Given the description of an element on the screen output the (x, y) to click on. 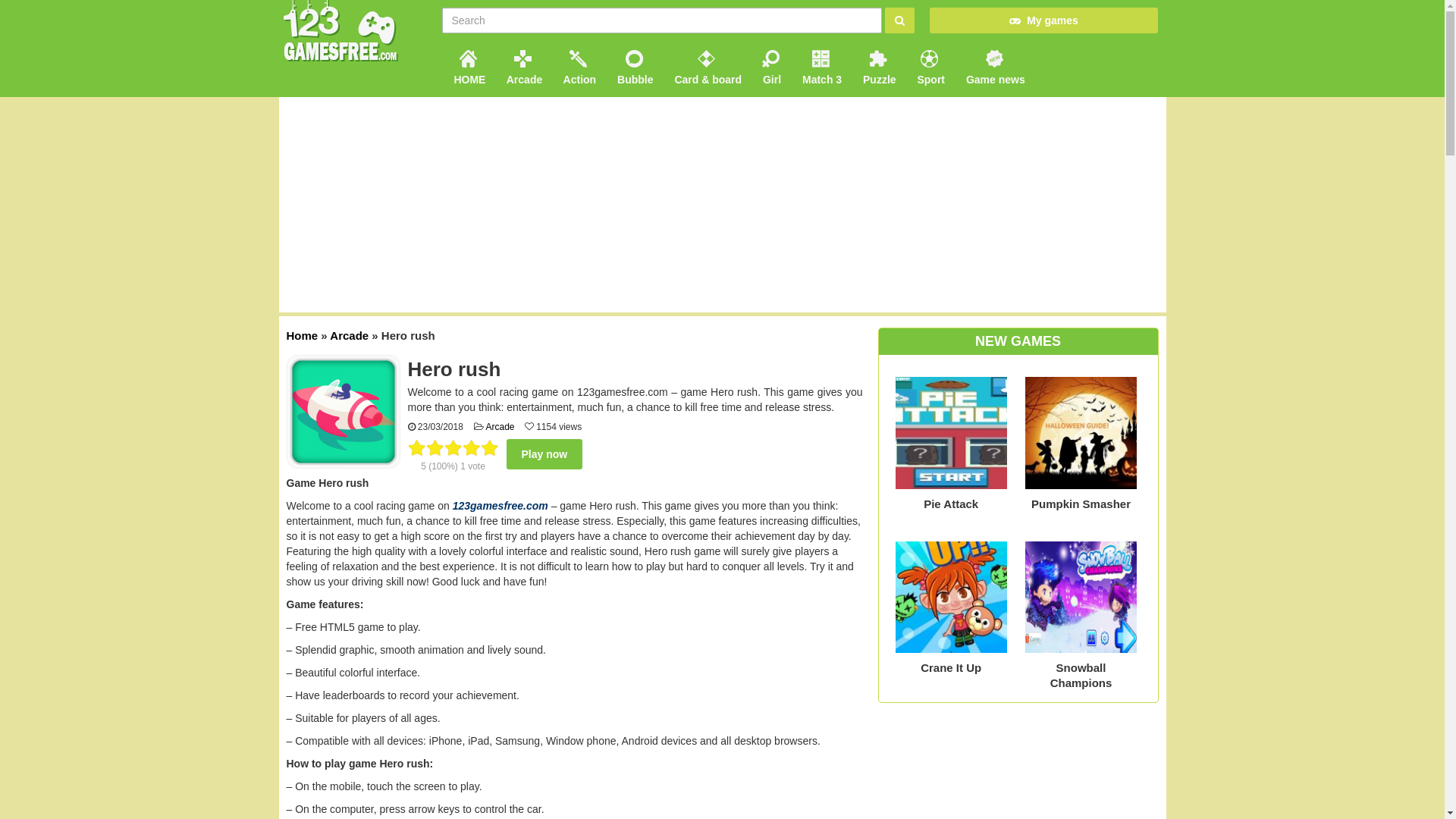
Play now Element type: text (544, 454)
 Action Element type: text (578, 65)
Crane It Up Element type: text (951, 612)
 Girl Element type: text (770, 65)
Advertisement Element type: hover (722, 204)
Arcade Element type: text (499, 426)
 Match 3 Element type: text (820, 65)
  My games Element type: text (1043, 21)
Hero rush Element type: hover (343, 410)
 Bubble Element type: text (633, 65)
Home Element type: text (302, 335)
Pumpkin Smasher Element type: text (1080, 447)
 Arcade Element type: text (522, 65)
 Game news Element type: text (993, 65)
Hero rush Element type: hover (343, 411)
 HOME Element type: text (467, 65)
Snowball Champions Element type: text (1080, 612)
Pie Attack Element type: text (951, 447)
 Card & board Element type: text (706, 65)
 Sport Element type: text (929, 65)
Arcade Element type: text (348, 335)
 Puzzle Element type: text (877, 65)
